Given the description of an element on the screen output the (x, y) to click on. 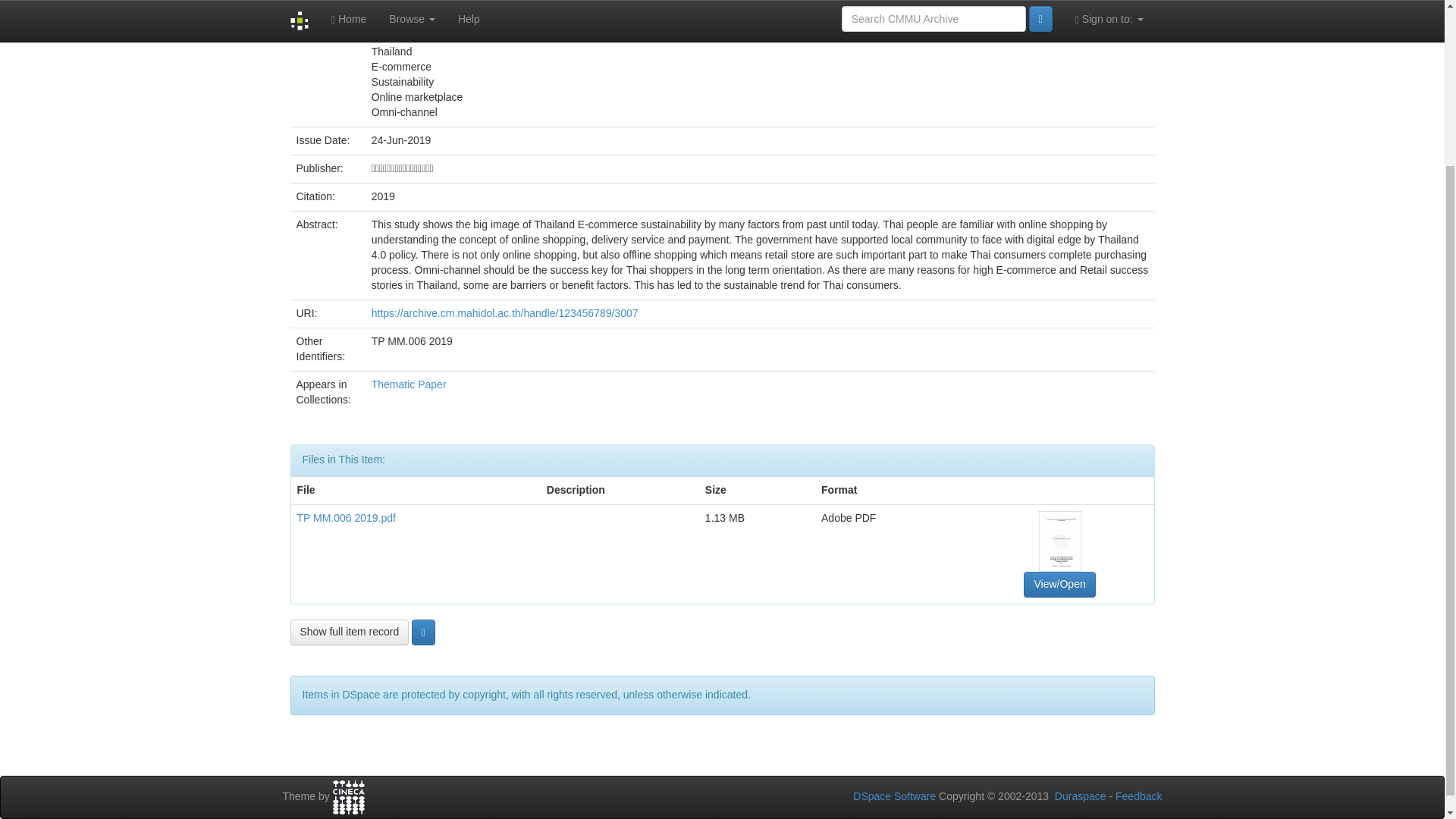
TP MM.006 2019.pdf (346, 517)
Thematic Paper (408, 384)
DSpace Software (894, 796)
Duraspace (1080, 796)
Kochaphan Chingwatanasate (441, 8)
Feedback (1138, 796)
Show full item record (349, 632)
